Given the description of an element on the screen output the (x, y) to click on. 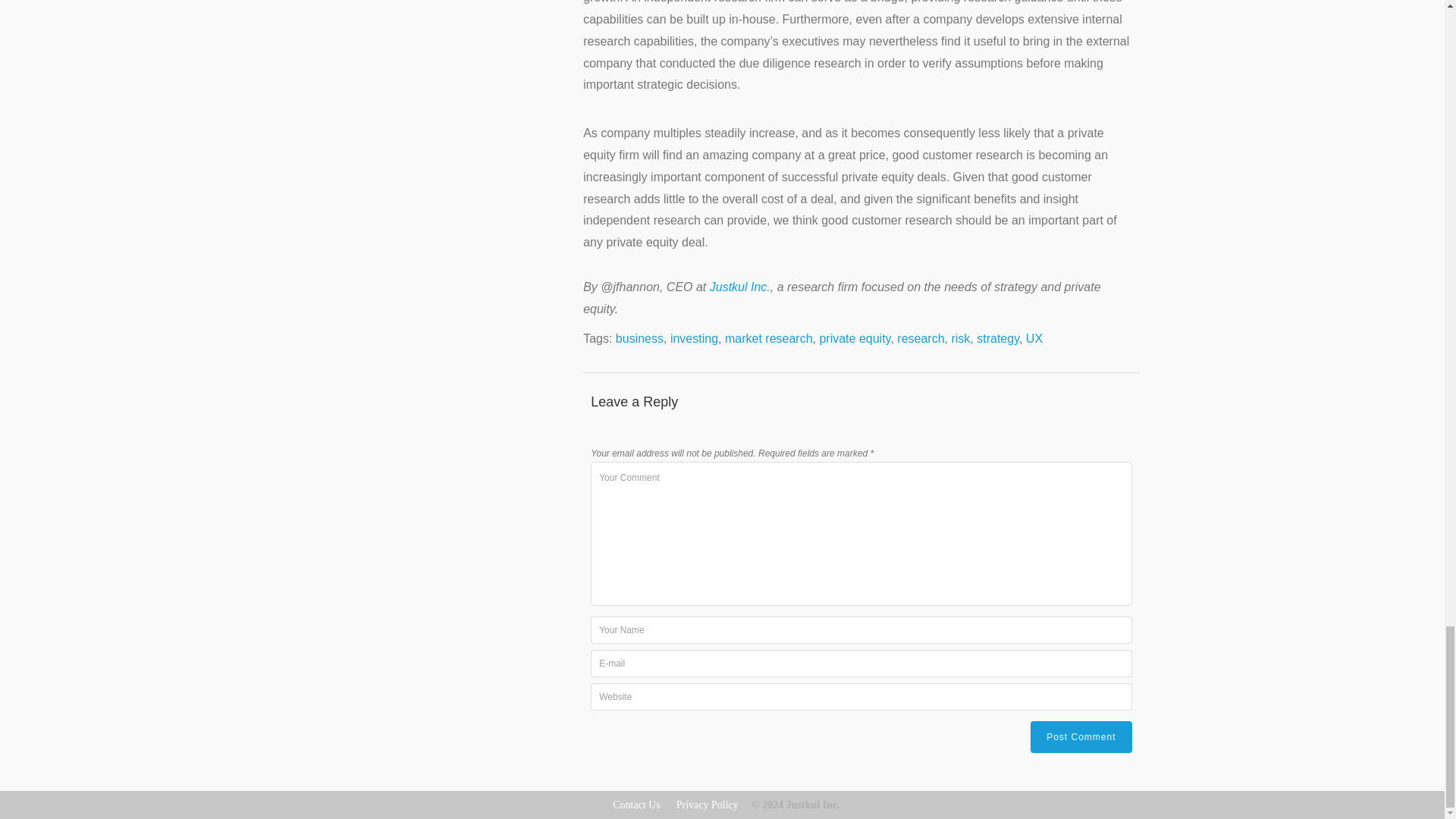
Justkul Inc. (740, 286)
risk (959, 338)
investing (693, 338)
business (639, 338)
Post Comment (1080, 736)
strategy (997, 338)
Contact Us (636, 804)
research (919, 338)
Privacy Policy (707, 804)
Post Comment (1080, 736)
